Given the description of an element on the screen output the (x, y) to click on. 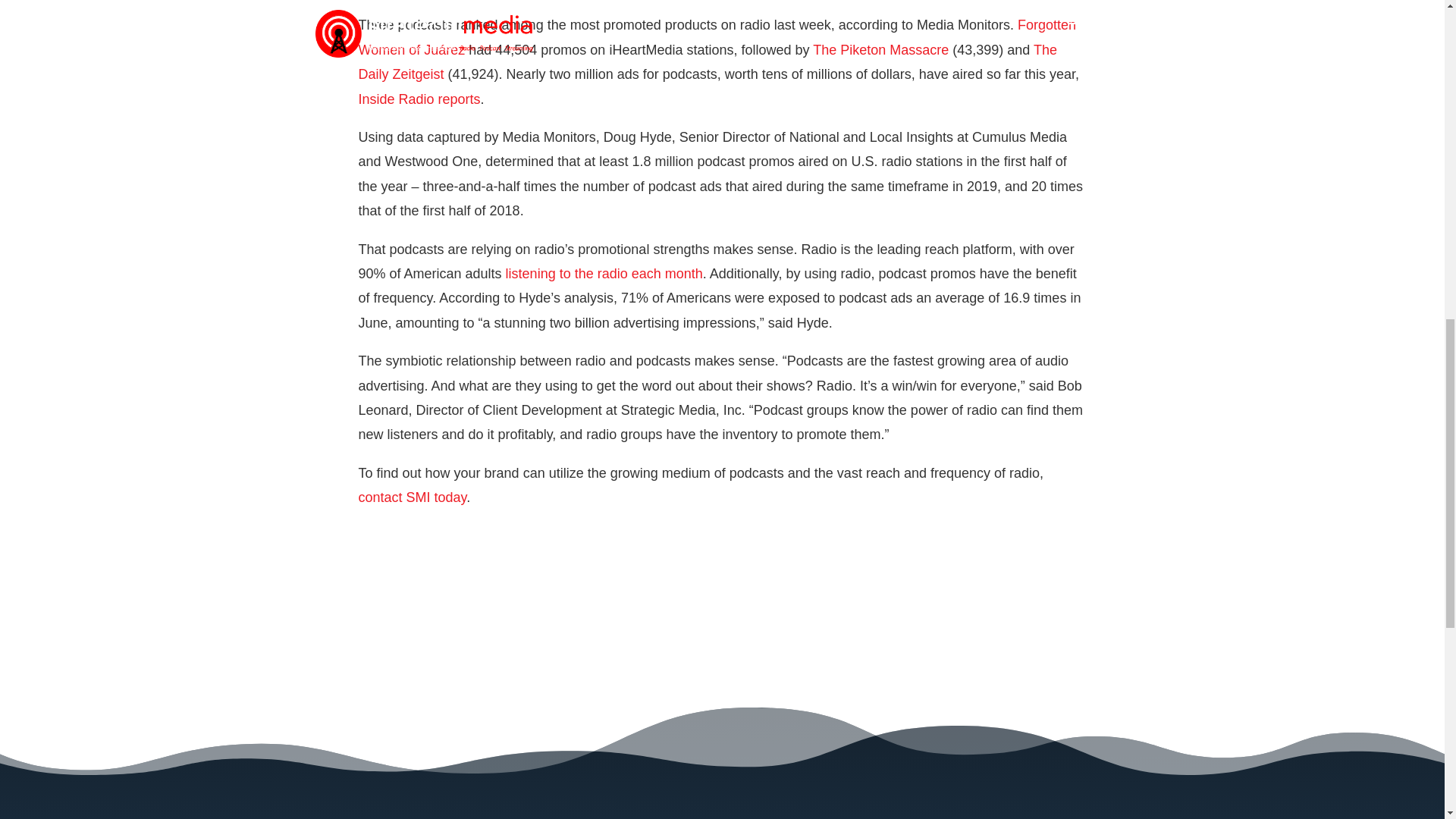
The Piketon Massacre (882, 49)
The Daily Zeitgeist (707, 61)
listening to the radio each month (604, 273)
Inside Radio reports (419, 99)
contact SMI today (411, 497)
